Given the description of an element on the screen output the (x, y) to click on. 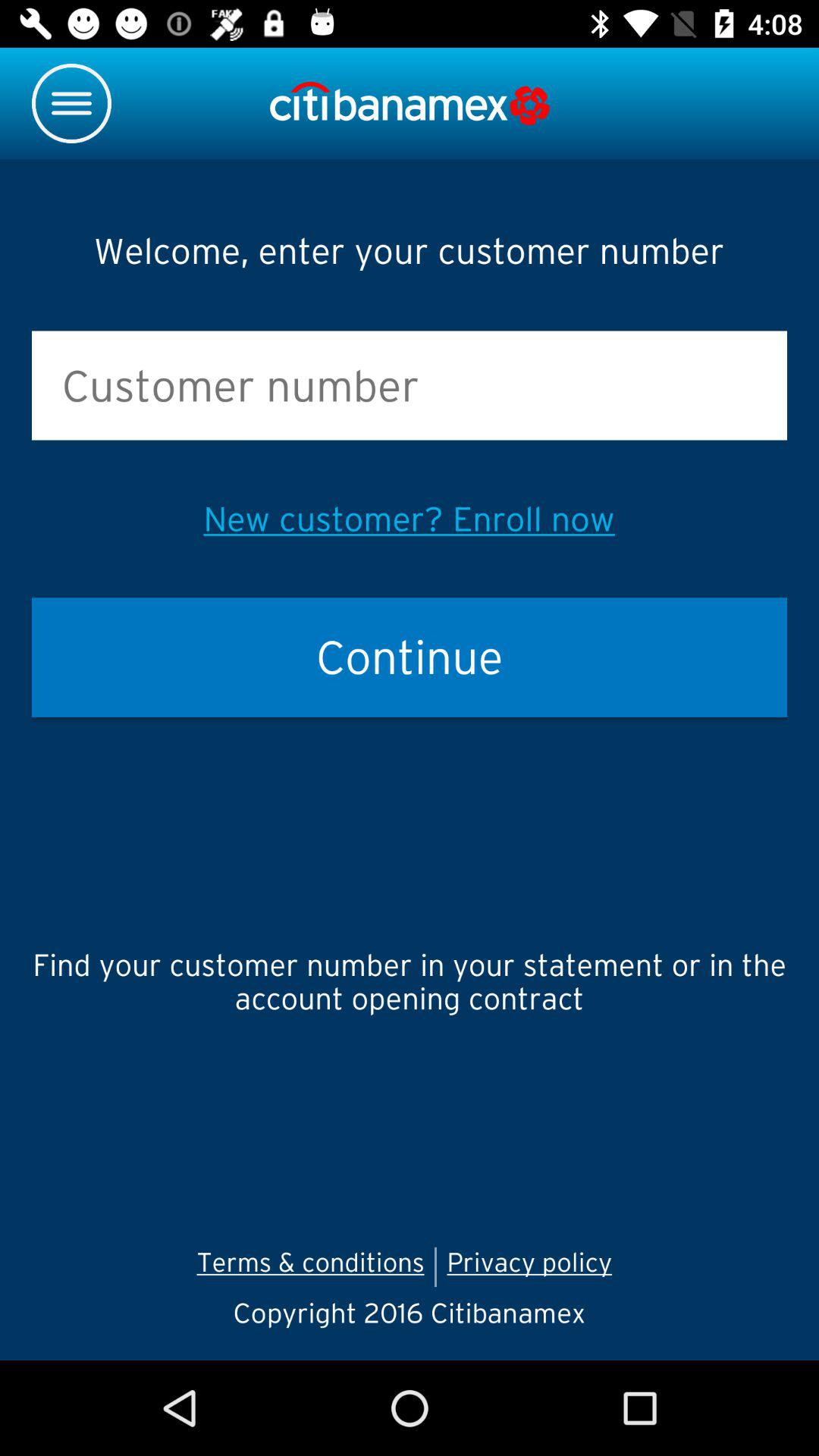
turn off icon below find your customer icon (534, 1267)
